Given the description of an element on the screen output the (x, y) to click on. 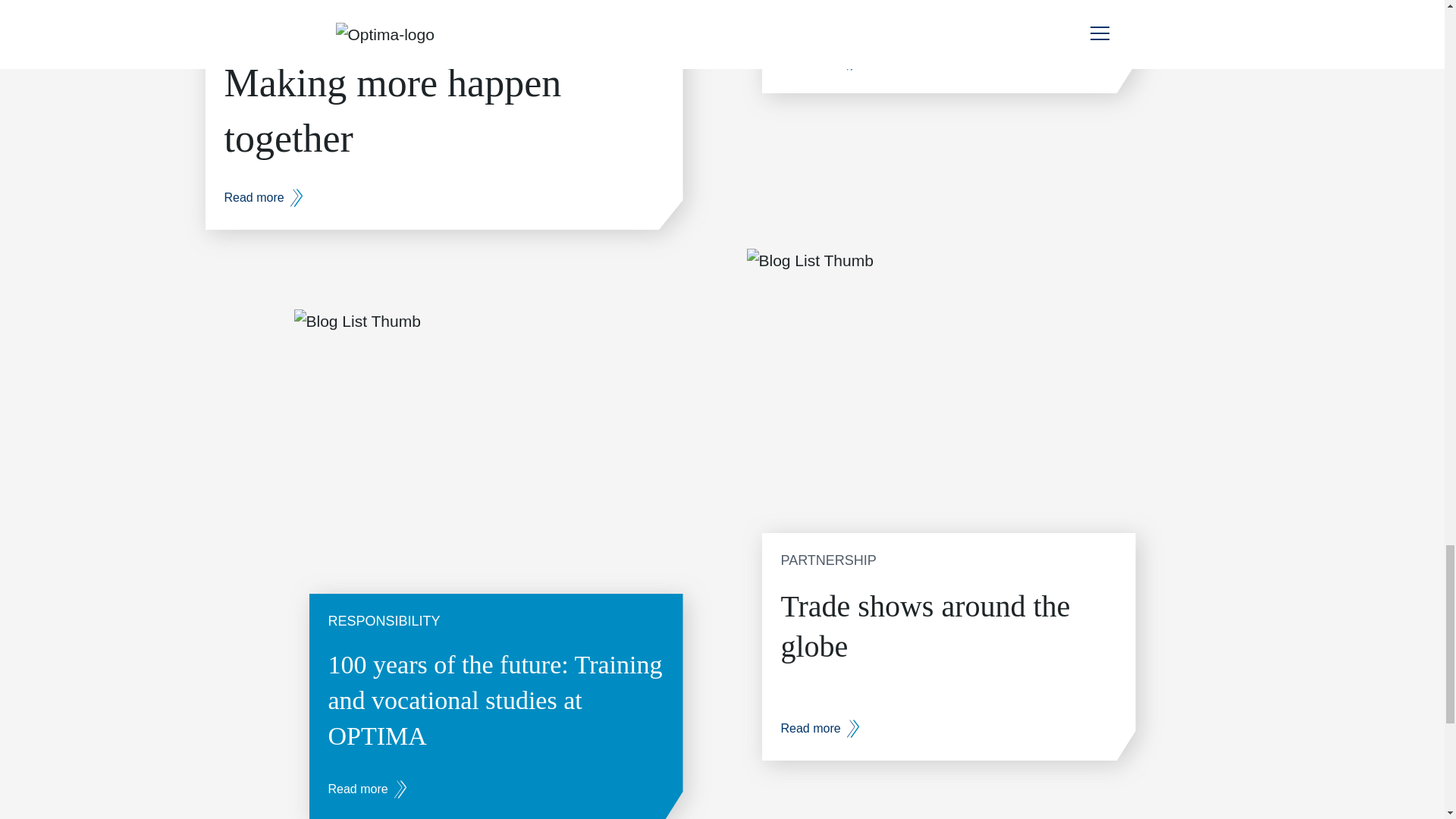
Read more (820, 728)
Read more (263, 198)
Read more (820, 61)
Read more (366, 789)
